Given the description of an element on the screen output the (x, y) to click on. 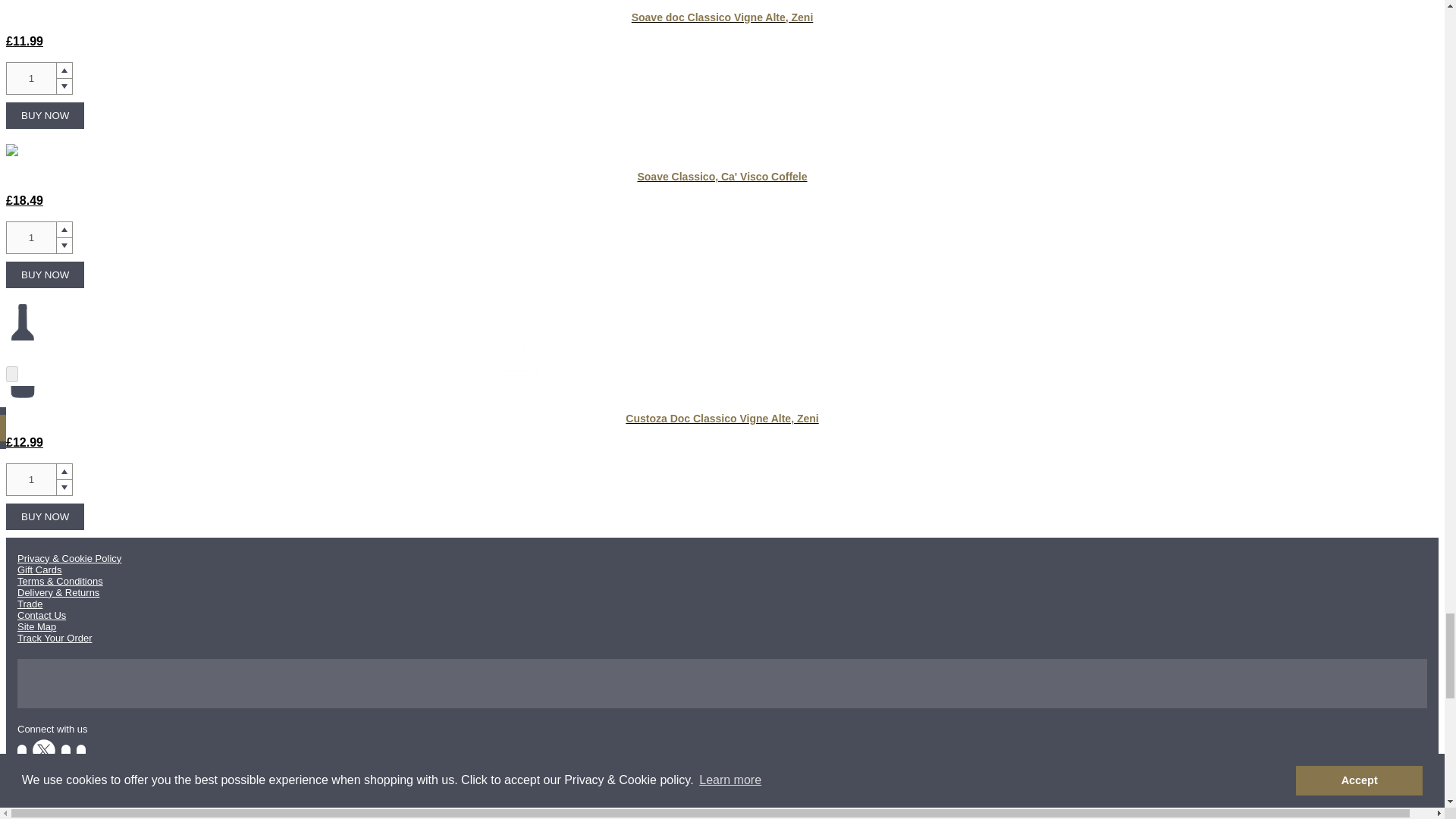
1 (30, 237)
1 (30, 78)
Customer reviews powered by Trustpilot (721, 684)
1 (30, 479)
